Given the description of an element on the screen output the (x, y) to click on. 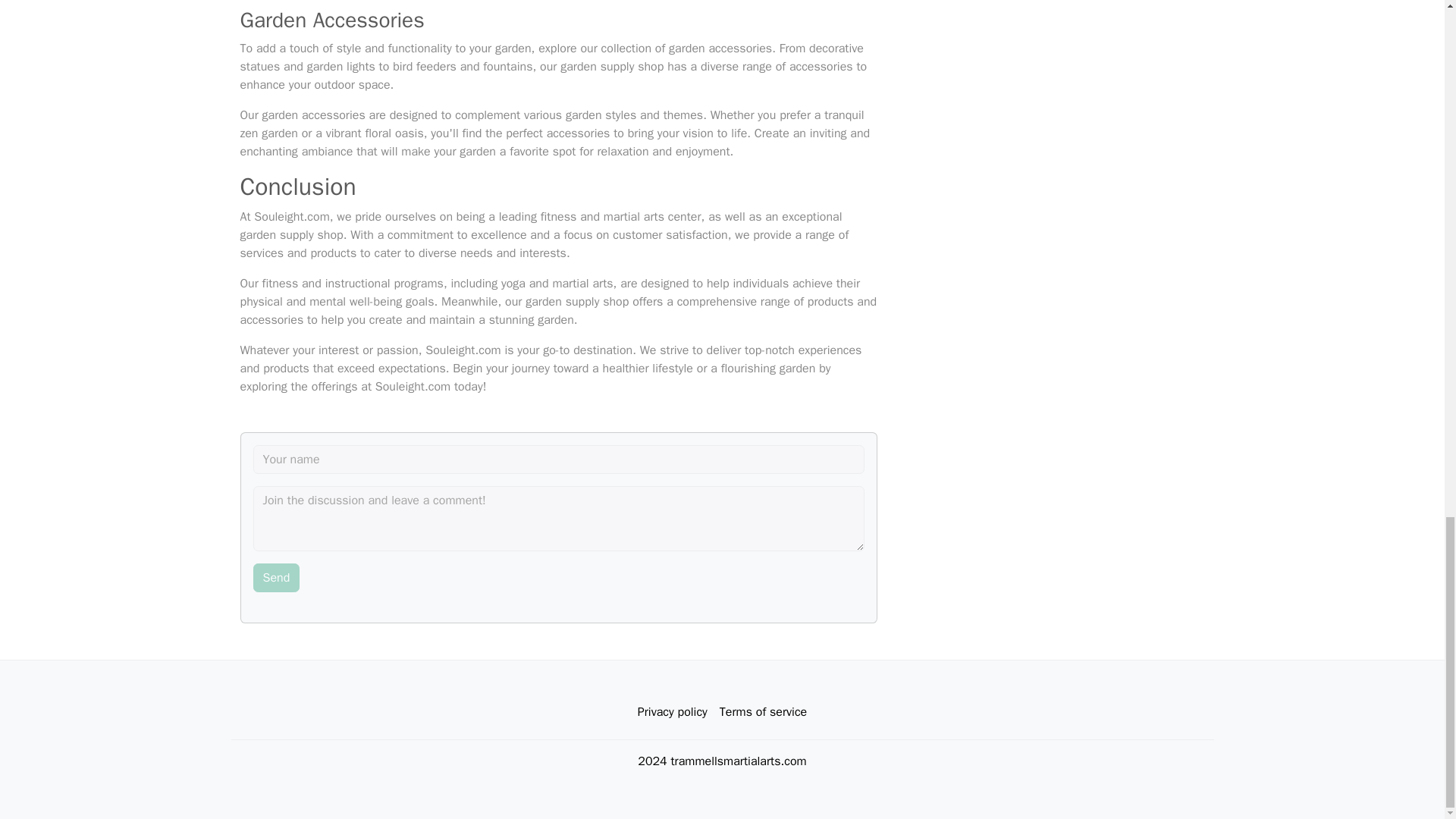
Send (276, 577)
Send (276, 577)
Privacy policy (672, 711)
Terms of service (762, 711)
